Given the description of an element on the screen output the (x, y) to click on. 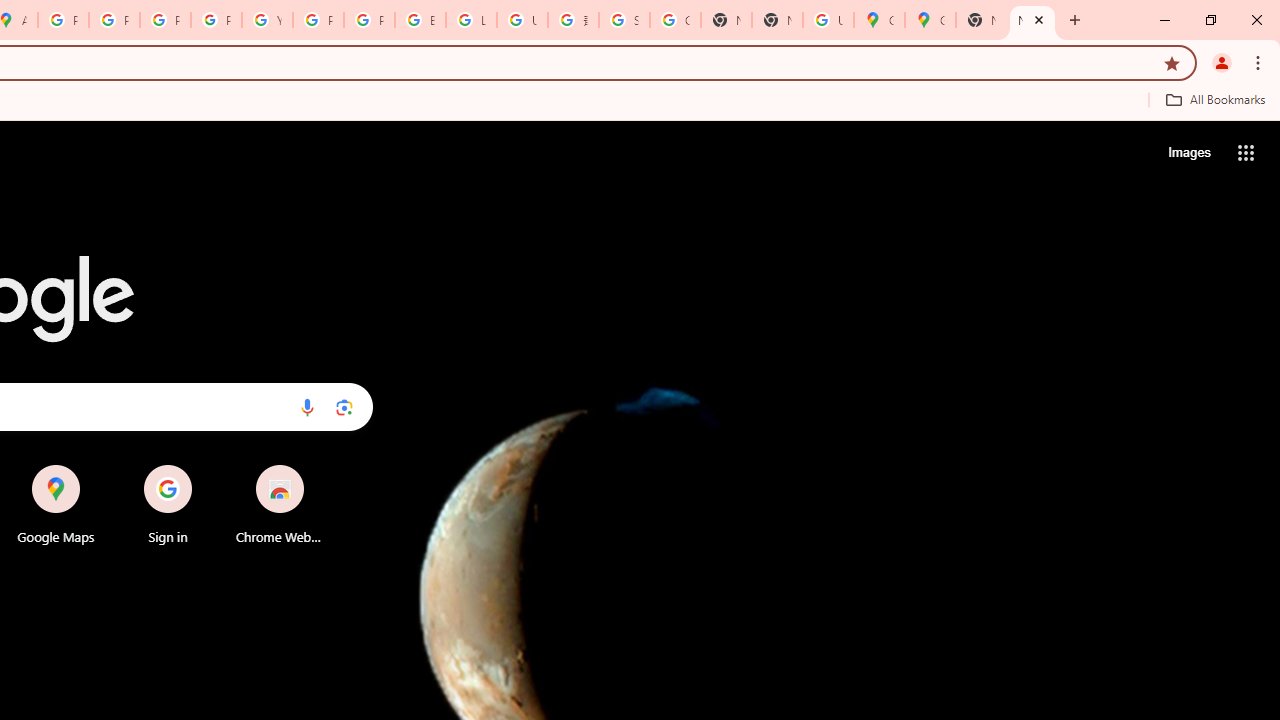
New Tab (1032, 20)
All Bookmarks (1215, 99)
Remove (319, 466)
Google apps (1245, 152)
Search by voice (307, 407)
YouTube (267, 20)
Sign in (168, 504)
Browse Chrome as a guest - Computer - Google Chrome Help (420, 20)
Google Maps (930, 20)
New Tab (776, 20)
